Given the description of an element on the screen output the (x, y) to click on. 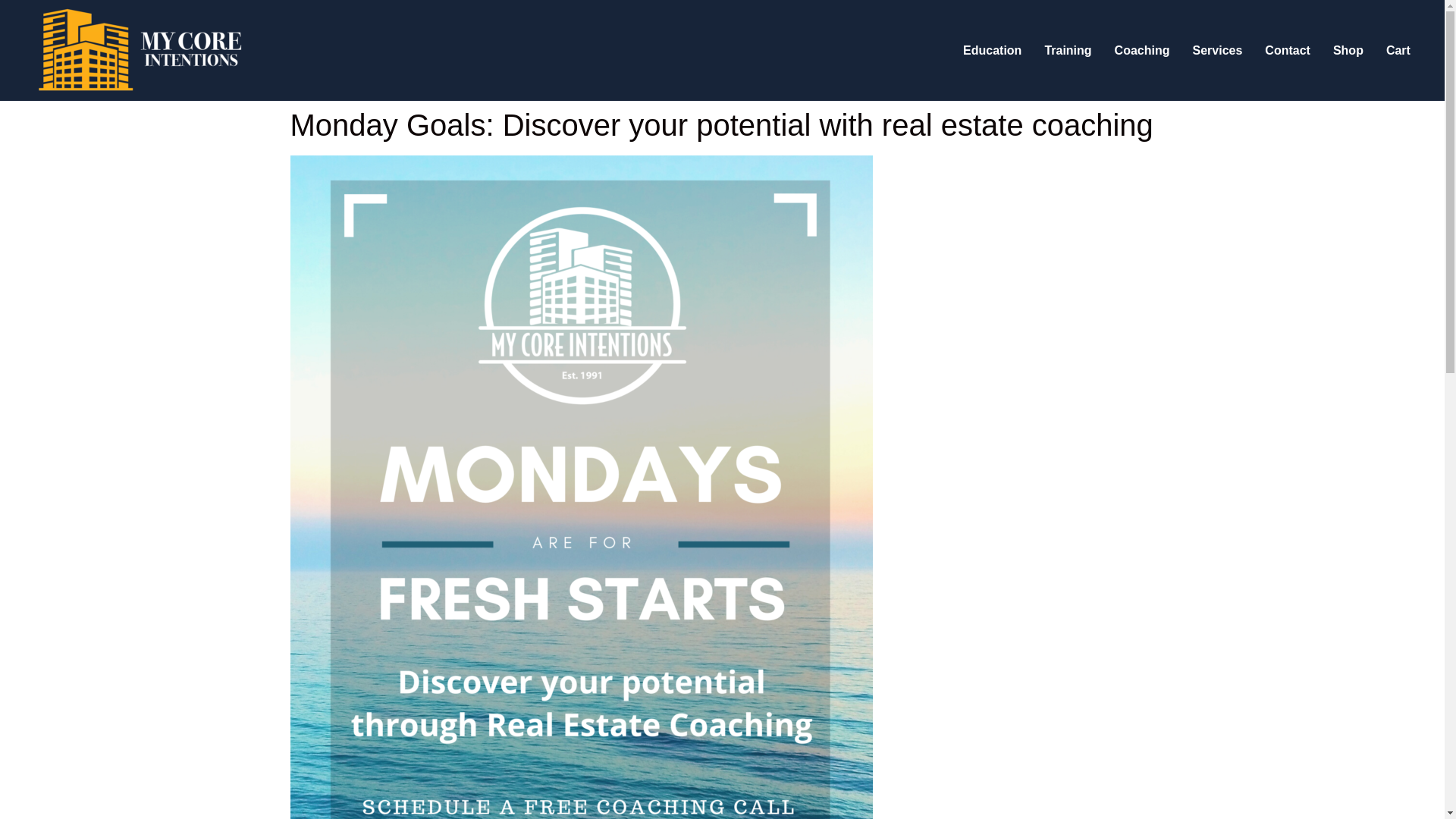
Contact (1287, 50)
Services (1216, 50)
Coaching (1141, 50)
Cart (1398, 50)
Education (992, 50)
Shop (1348, 50)
Training (1067, 50)
